Given the description of an element on the screen output the (x, y) to click on. 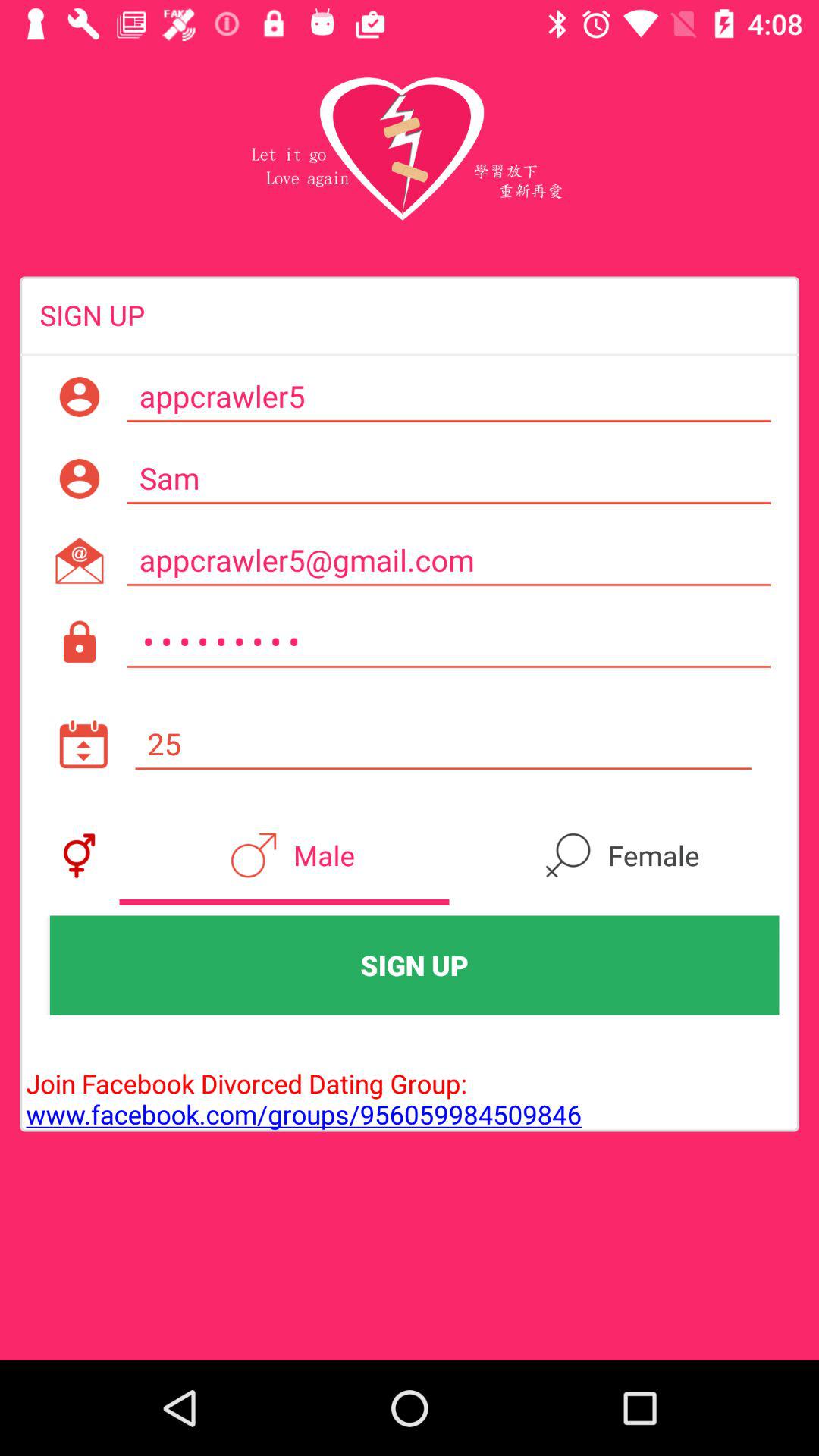
select appcrawler5@gmail.com item (449, 560)
